Given the description of an element on the screen output the (x, y) to click on. 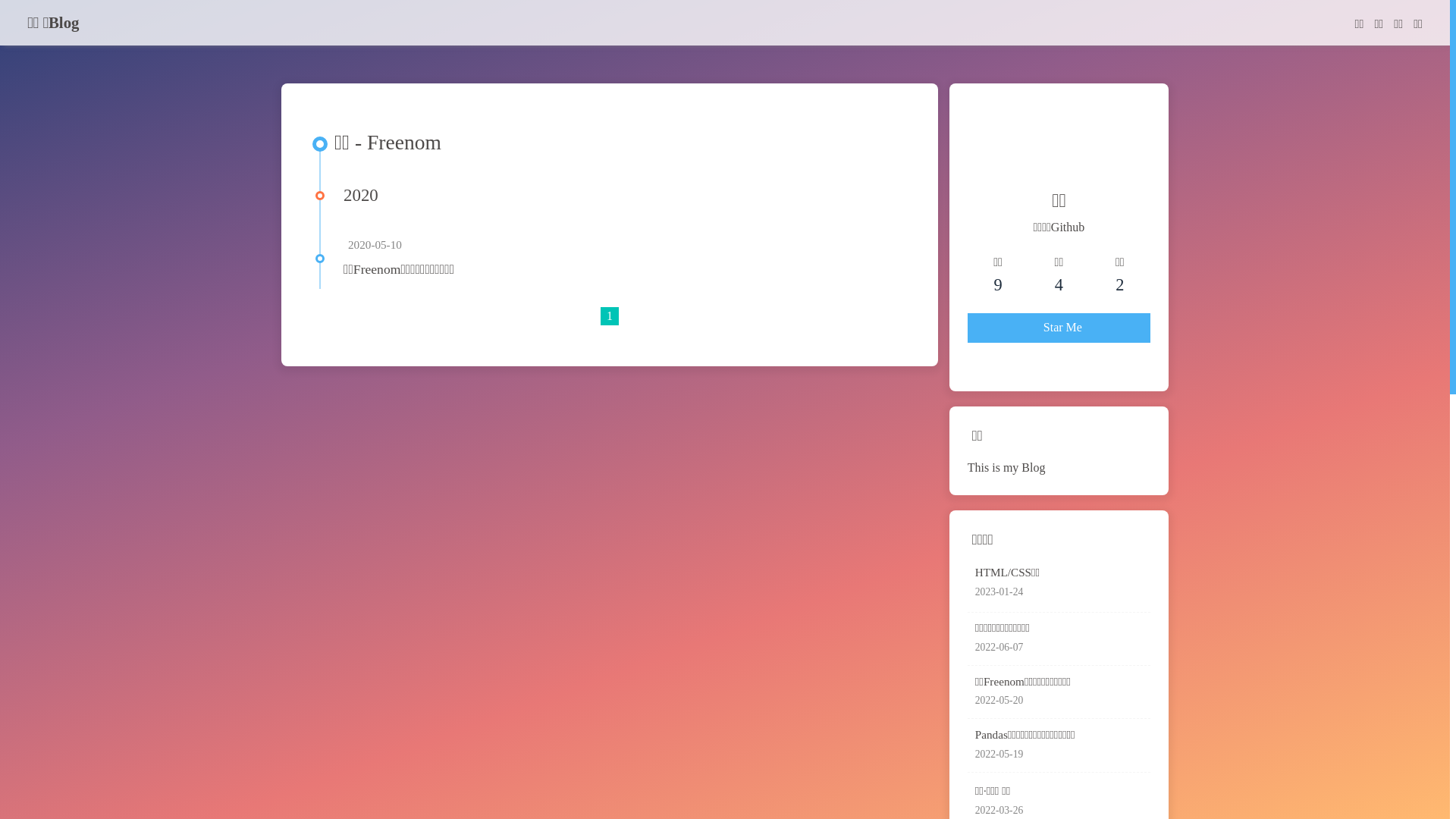
Star Me Element type: text (1058, 327)
